Given the description of an element on the screen output the (x, y) to click on. 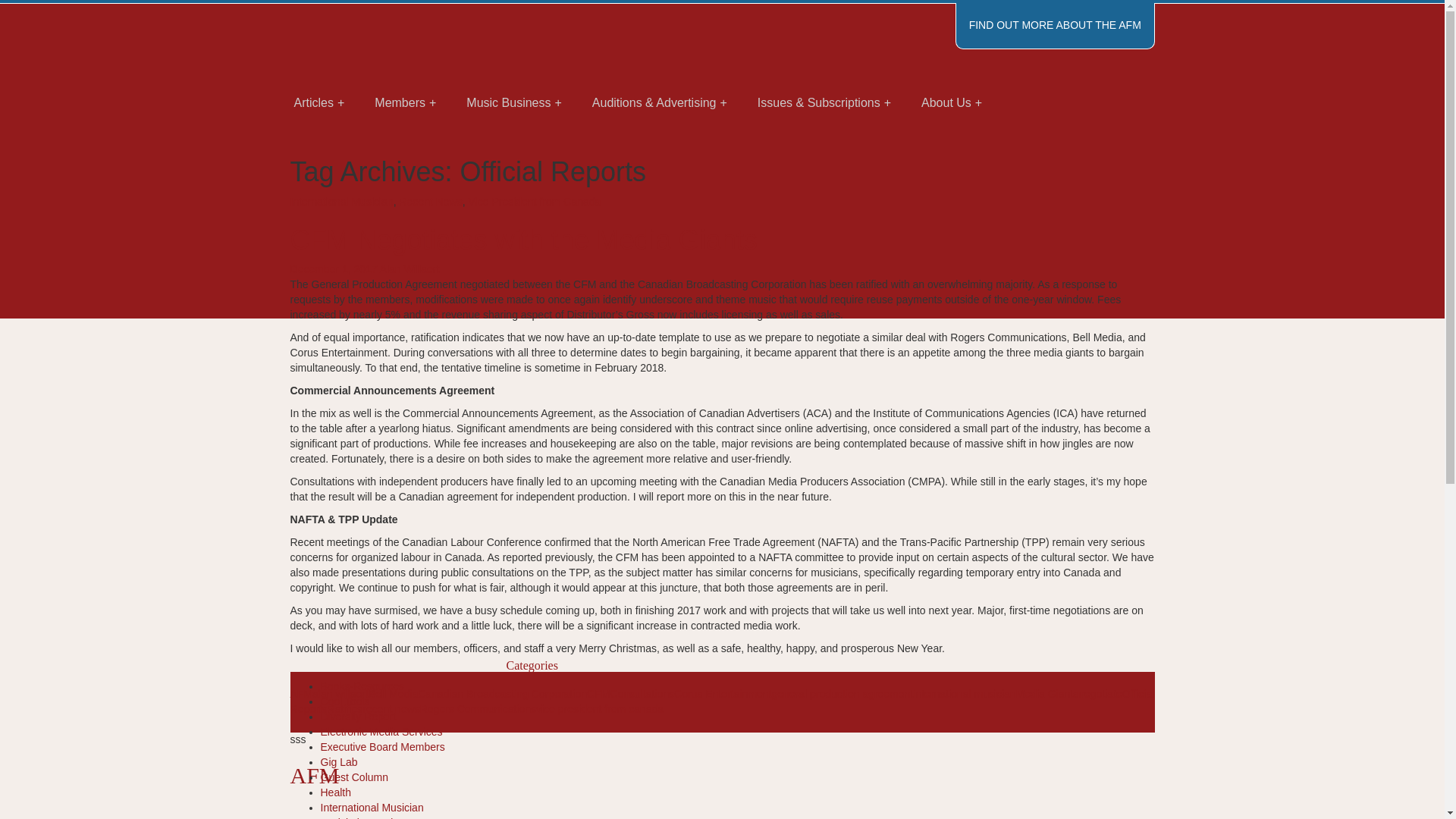
Music Business (513, 102)
About Us (951, 102)
Members (405, 102)
Articles (319, 102)
